Given the description of an element on the screen output the (x, y) to click on. 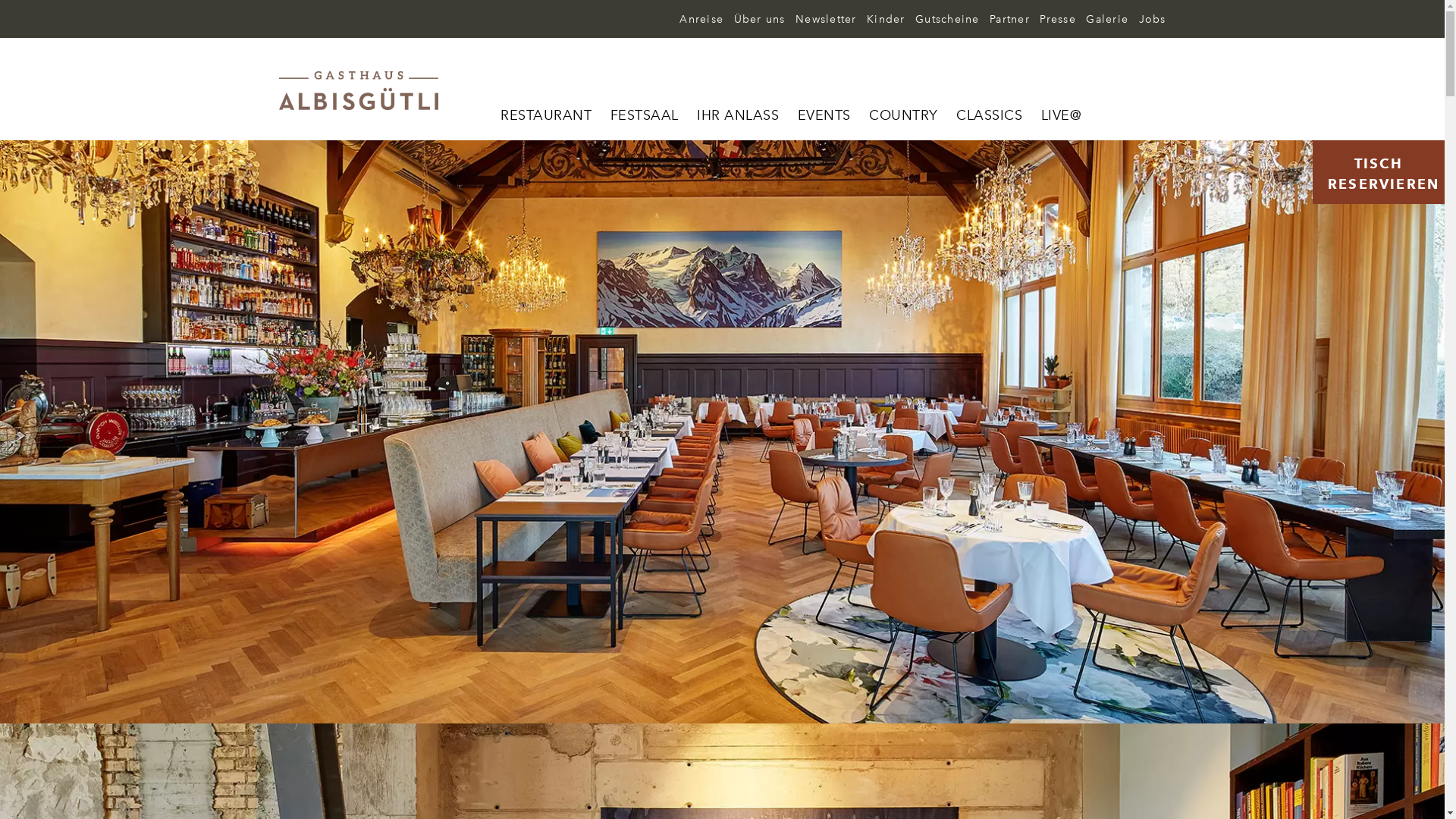
EVENTS Element type: text (824, 116)
Jobs Element type: text (1148, 19)
Gutscheine Element type: text (943, 19)
IHR ANLASS Element type: text (737, 116)
Galerie Element type: text (1103, 19)
Presse Element type: text (1054, 19)
COUNTRY Element type: text (903, 116)
CLASSICS Element type: text (988, 116)
Partner Element type: text (1005, 19)
TISCH RESERVIEREN Element type: text (1378, 171)
Anreise Element type: text (697, 19)
FESTSAAL Element type: text (643, 116)
RESTAURANT Element type: text (545, 116)
LIVE@ Element type: text (1060, 116)
Newsletter Element type: text (822, 19)
Kinder Element type: text (882, 19)
